Given the description of an element on the screen output the (x, y) to click on. 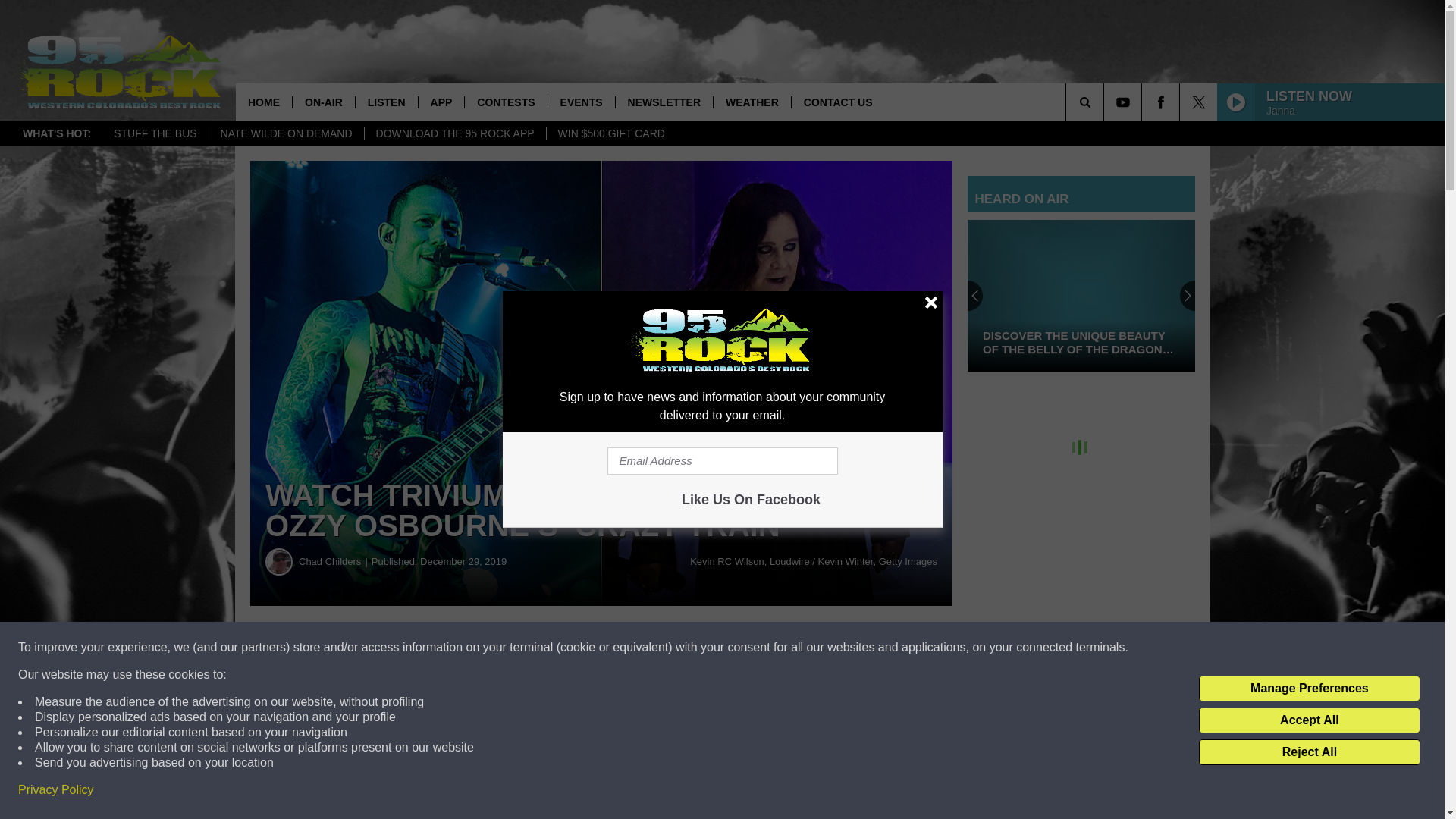
Accept All (1309, 720)
ON-AIR (323, 102)
Email Address (722, 461)
STUFF THE BUS (154, 133)
SEARCH (1106, 102)
DOWNLOAD THE 95 ROCK APP (455, 133)
Share on Twitter (741, 647)
WHAT'S HOT: (56, 133)
LISTEN (386, 102)
HOME (263, 102)
NATE WILDE ON DEMAND (286, 133)
Manage Preferences (1309, 688)
CONTESTS (505, 102)
Privacy Policy (55, 789)
Share on Facebook (460, 647)
